Given the description of an element on the screen output the (x, y) to click on. 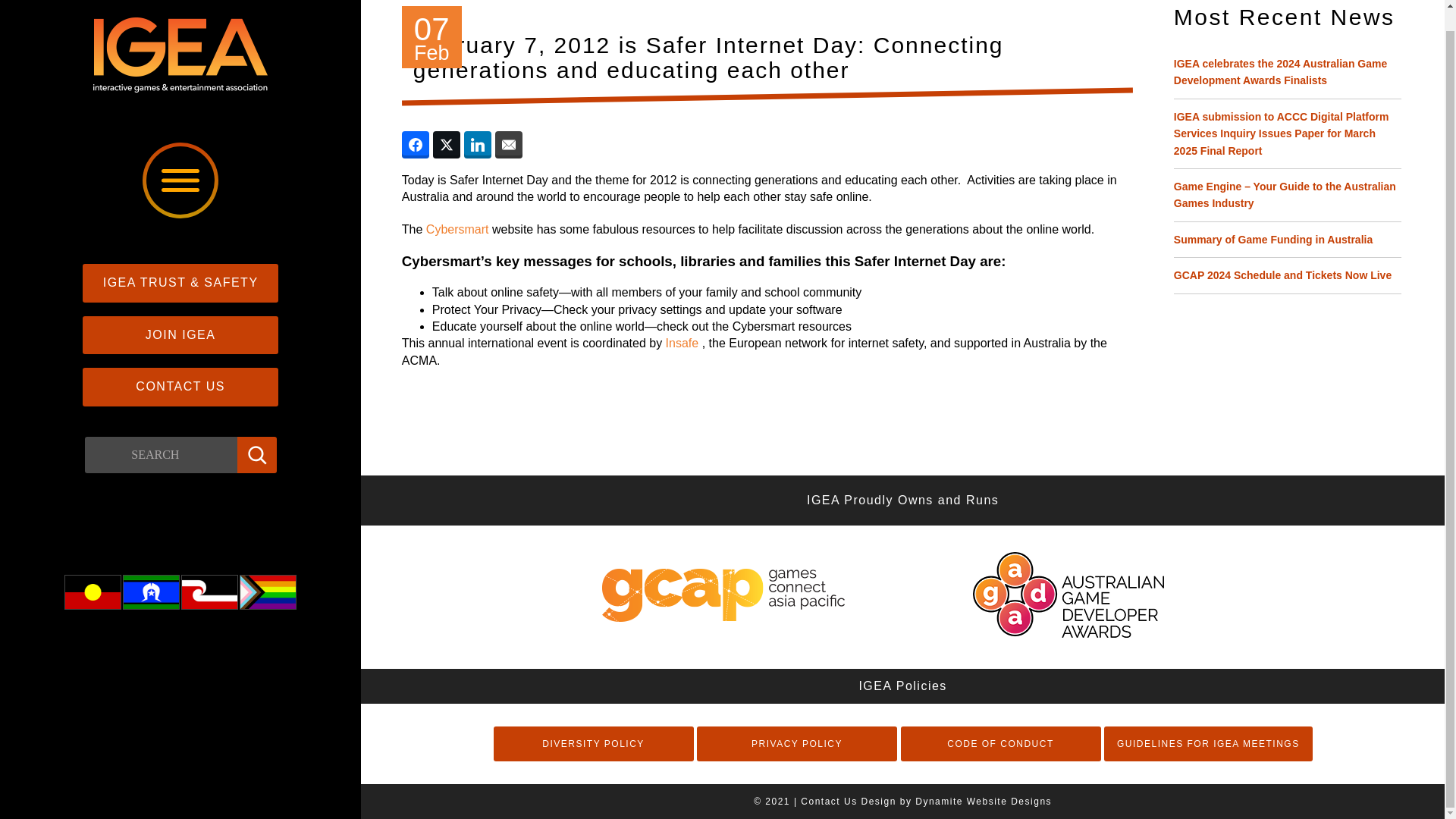
Contact Us (180, 386)
YouTube (249, 527)
Join IGEA (180, 334)
Facebook (157, 527)
JOIN IGEA (180, 334)
Share on Facebook (415, 144)
LinkedIn (203, 527)
test (92, 591)
Twitter (111, 527)
Share on LinkedIn (478, 144)
